Given the description of an element on the screen output the (x, y) to click on. 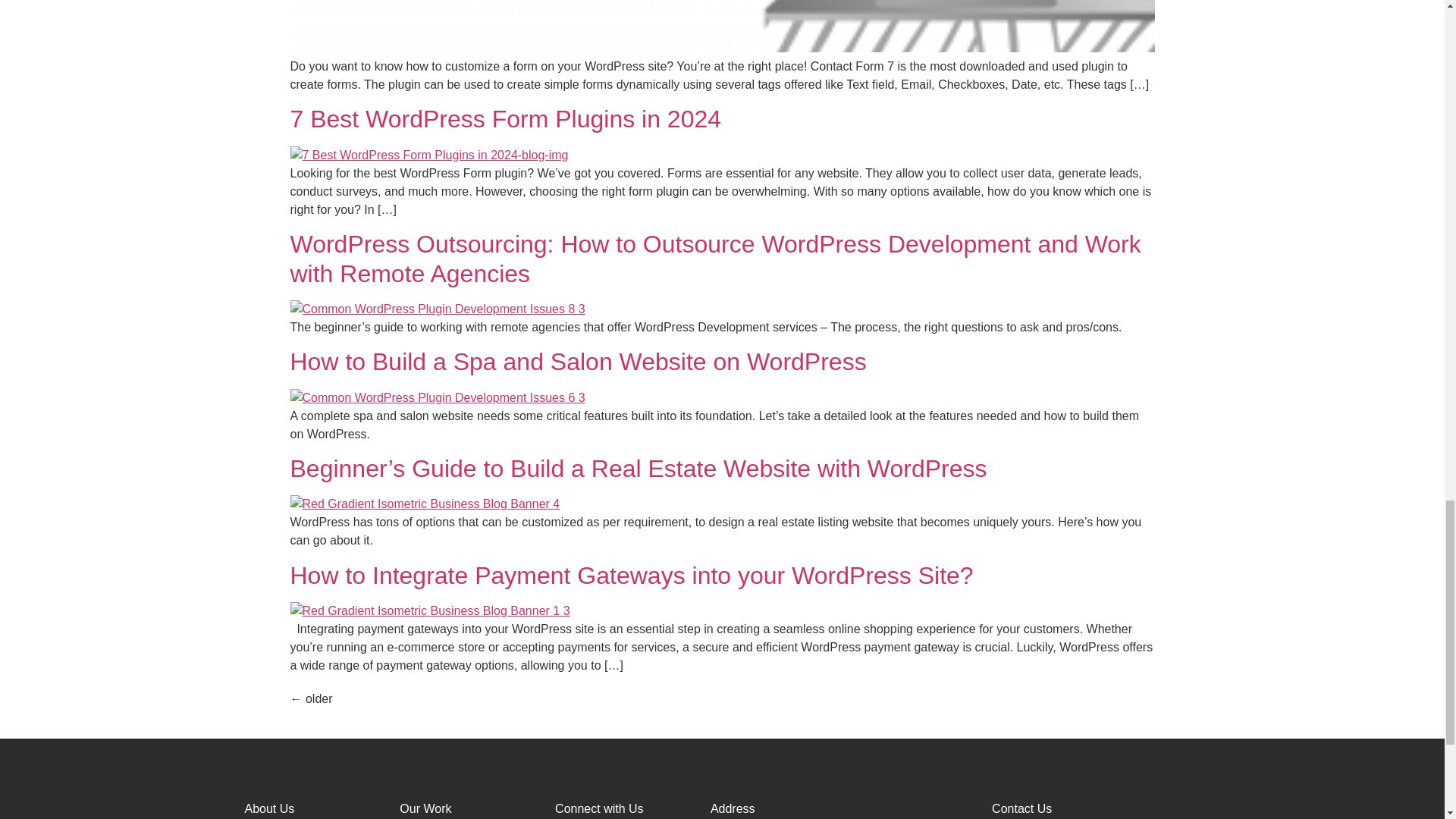
Red Gradient Isometric Business Blog Banner 1 3 (429, 610)
Red Gradient Isometric Business Blog Banner 4 (424, 504)
7 Best WordPress Form Plugins in 2024 blog img (428, 155)
Common WordPress Plugin Development Issues 6 3 (437, 398)
Common WordPress Plugin Development Issues 8 3 (437, 309)
